Given the description of an element on the screen output the (x, y) to click on. 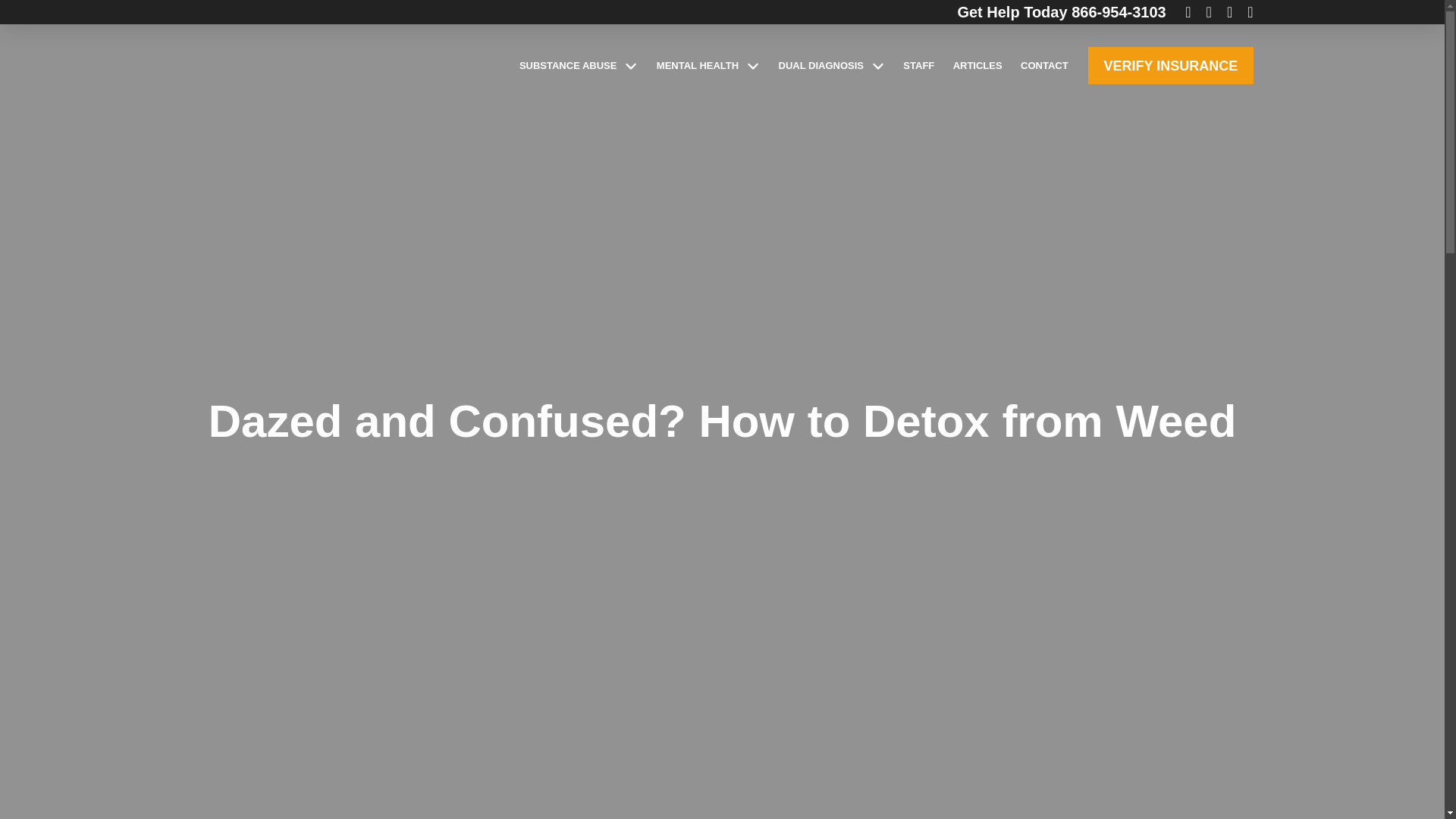
DUAL DIAGNOSIS (830, 65)
SUBSTANCE ABUSE (579, 65)
MENTAL HEALTH (708, 65)
VERIFY INSURANCE (1169, 65)
